Given the description of an element on the screen output the (x, y) to click on. 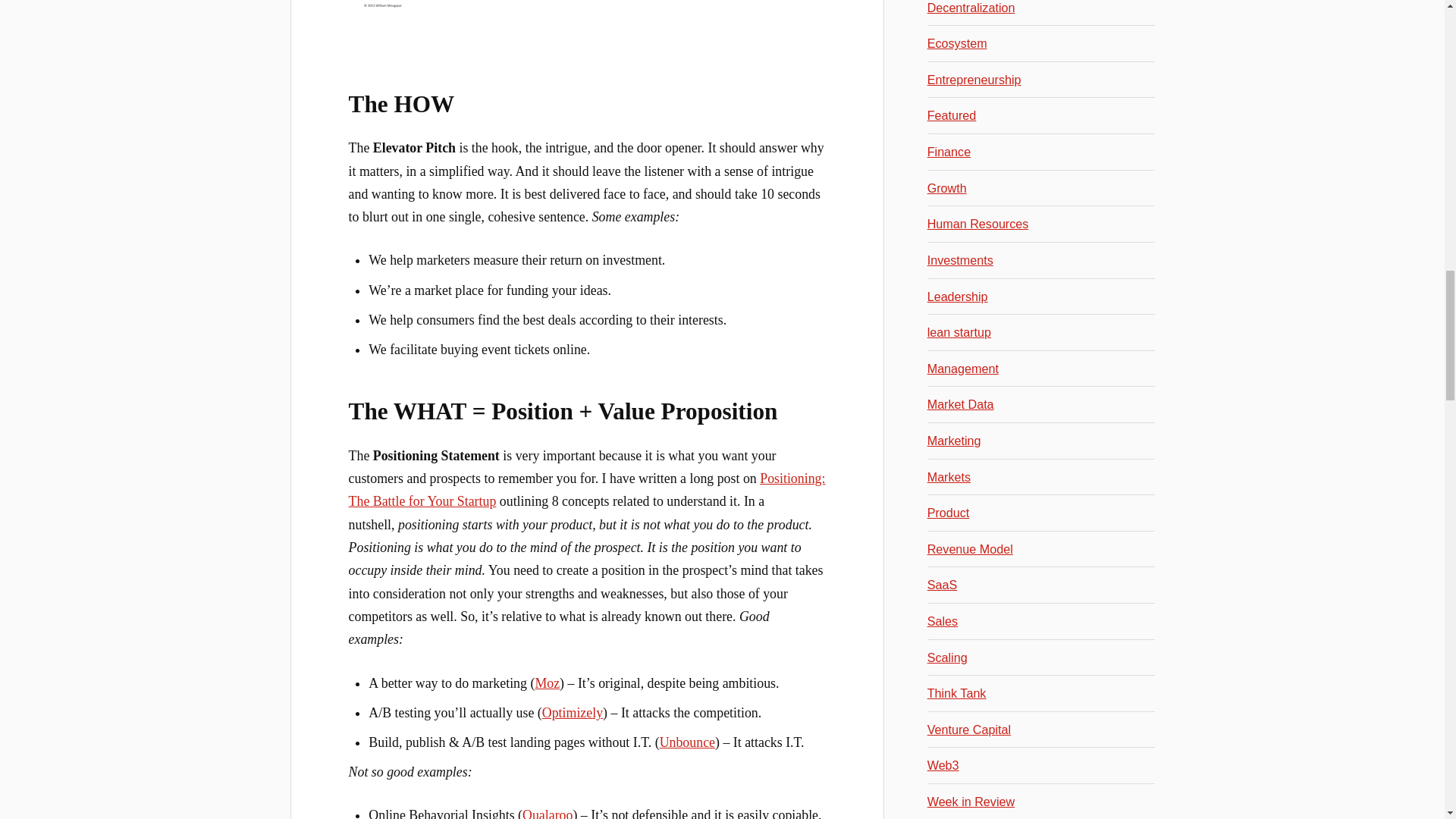
Moz (546, 683)
Qualaroo (547, 813)
Optimizely (571, 712)
Decentralization (970, 7)
Ecosystem (957, 42)
Unbounce (686, 742)
Positioning: The Battle for Your Startup (587, 489)
